Given the description of an element on the screen output the (x, y) to click on. 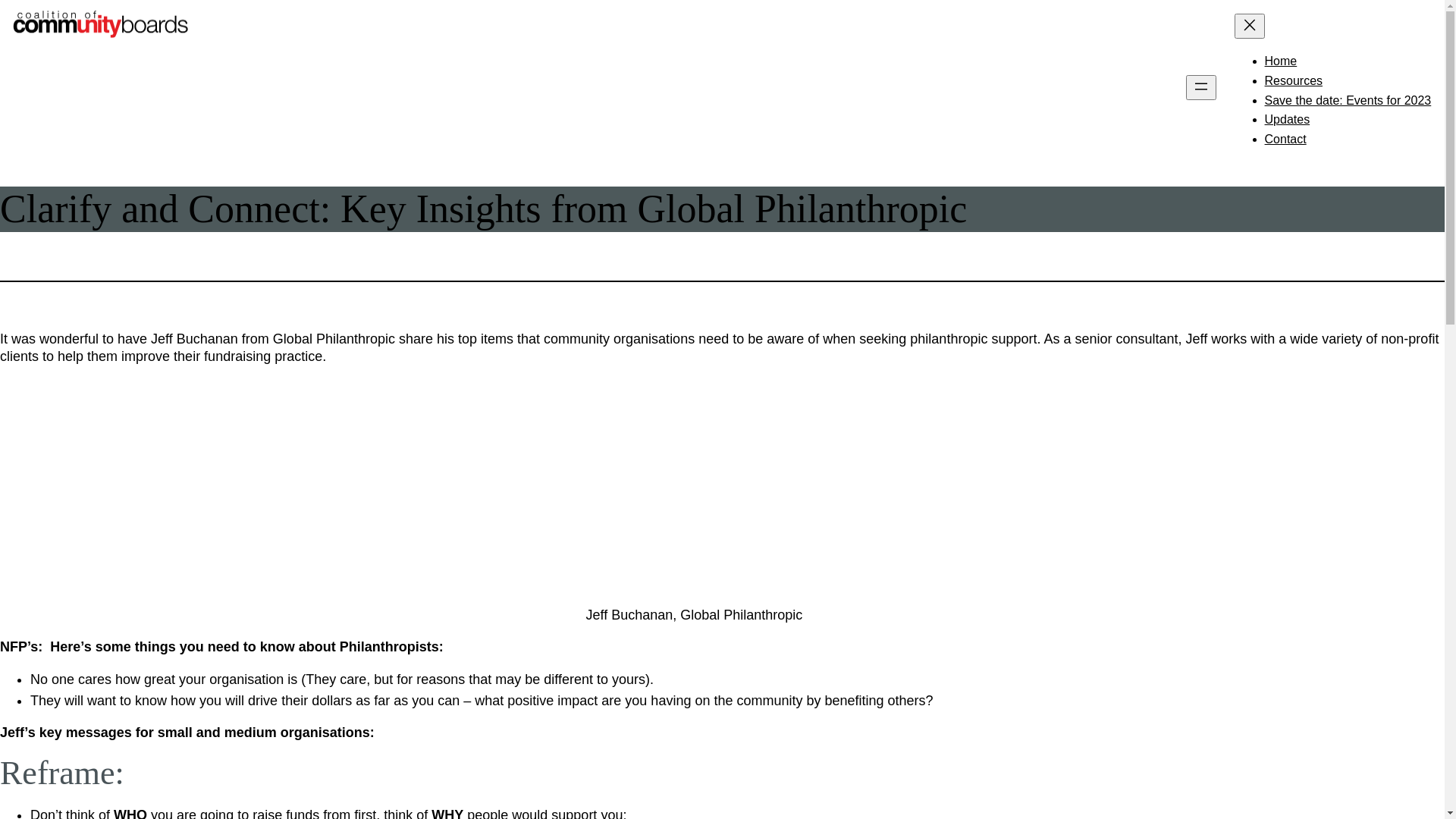
Save the date: Events for 2023 Element type: text (1347, 100)
Updates Element type: text (1287, 118)
Resources Element type: text (1293, 80)
Contact Element type: text (1285, 138)
Home Element type: text (1280, 60)
